Given the description of an element on the screen output the (x, y) to click on. 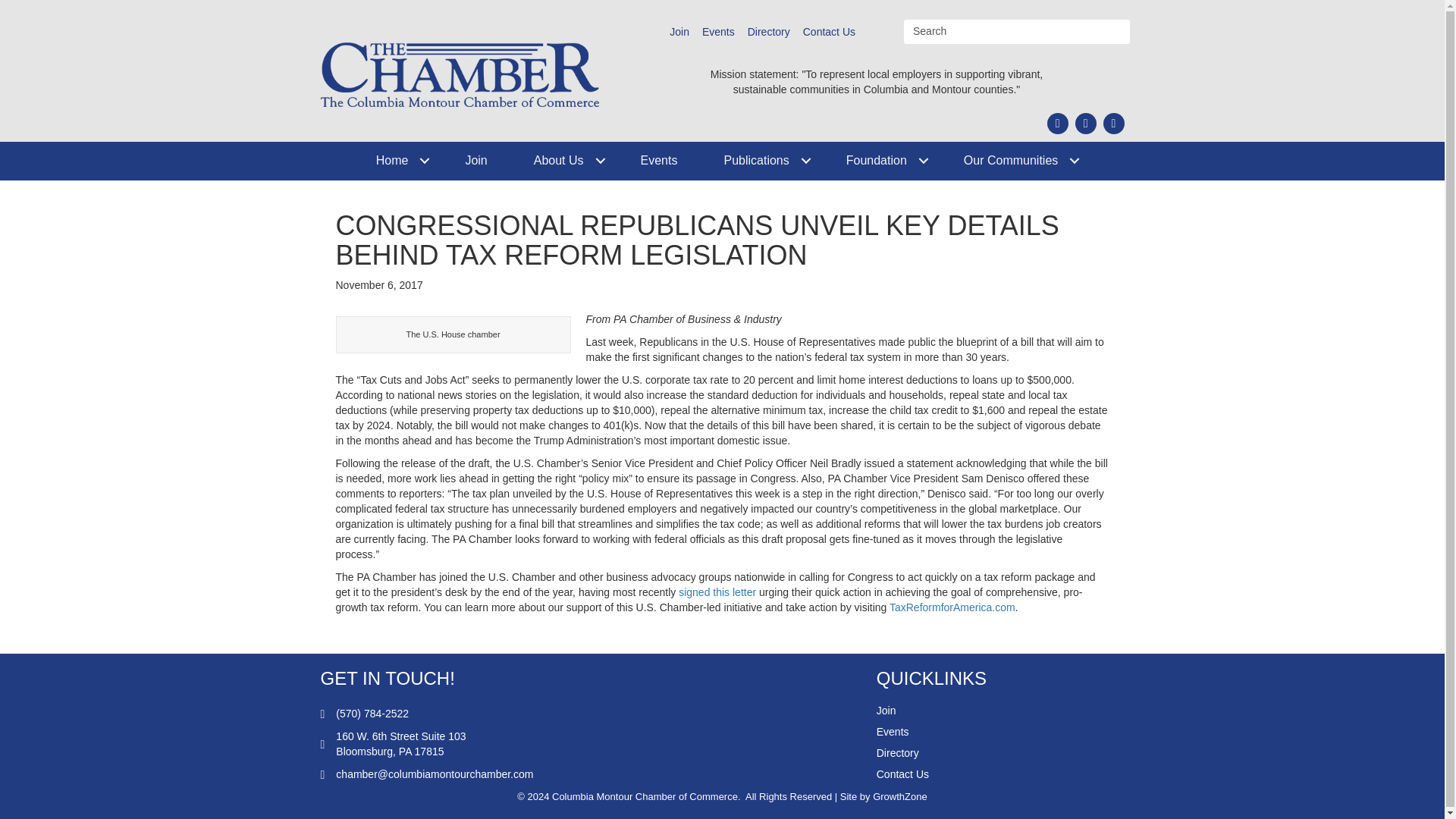
Events (718, 32)
Our Communities (1015, 160)
Join (475, 160)
Publications (761, 160)
Home (397, 160)
Contact Us (828, 32)
Directory (768, 32)
Join (679, 32)
Events (658, 160)
About Us (564, 160)
Foundation (882, 160)
